Given the description of an element on the screen output the (x, y) to click on. 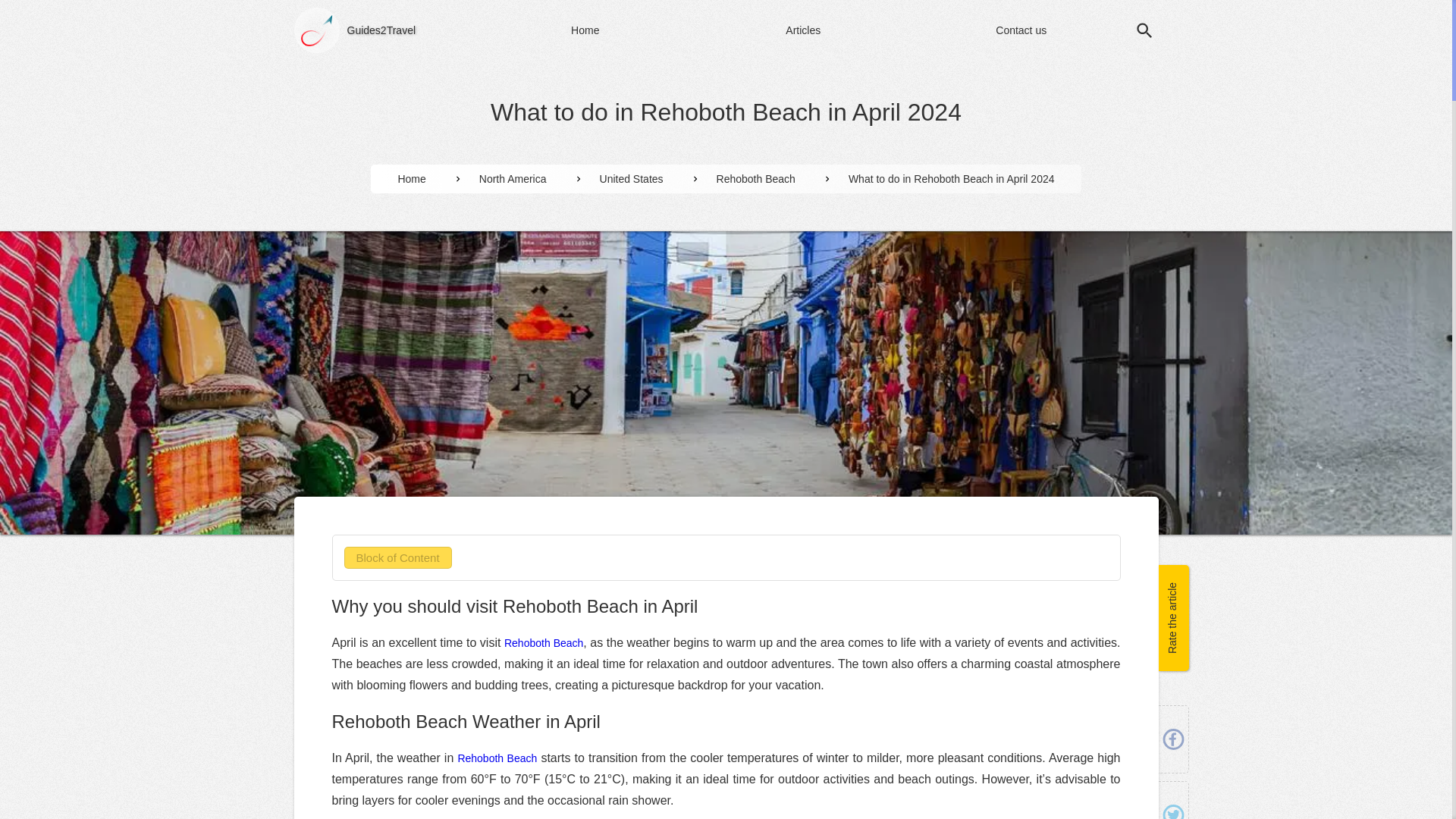
Rehoboth Beach (497, 758)
Guides2Travel (381, 30)
North America (512, 178)
Articles (803, 30)
Contact us (1020, 30)
Share via fb (1172, 739)
Block of Content (397, 557)
Rehoboth Beach (756, 178)
GetYourGuide Widget (180, 591)
Home (585, 30)
Home (411, 178)
Share via tw (1172, 807)
What to do in Rehoboth Beach in April 2024 (951, 178)
United States (631, 178)
Rehoboth Beach (543, 643)
